Given the description of an element on the screen output the (x, y) to click on. 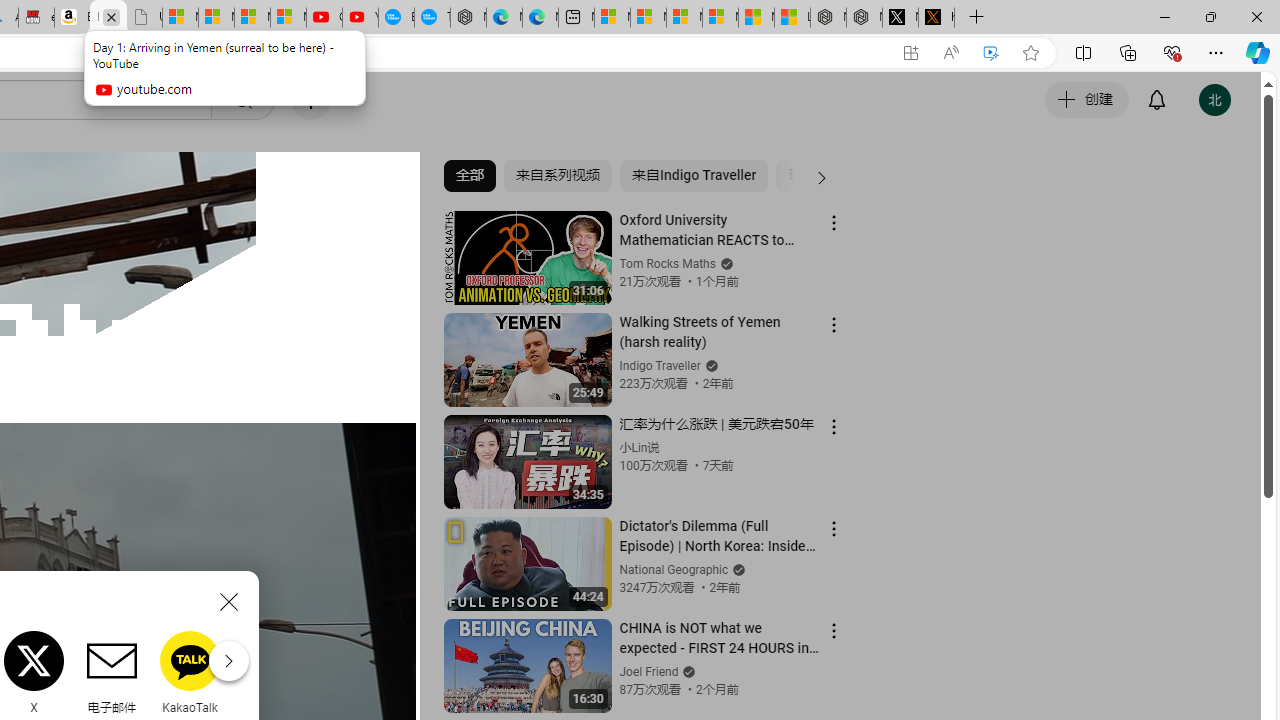
Nordace - Nordace has arrived Hong Kong (468, 17)
Untitled (144, 17)
KakaoTalk (189, 672)
YouTube Kids - An App Created for Kids to Explore Content (360, 17)
Day 1: Arriving in Yemen (surreal to be here) - YouTube (107, 17)
